Given the description of an element on the screen output the (x, y) to click on. 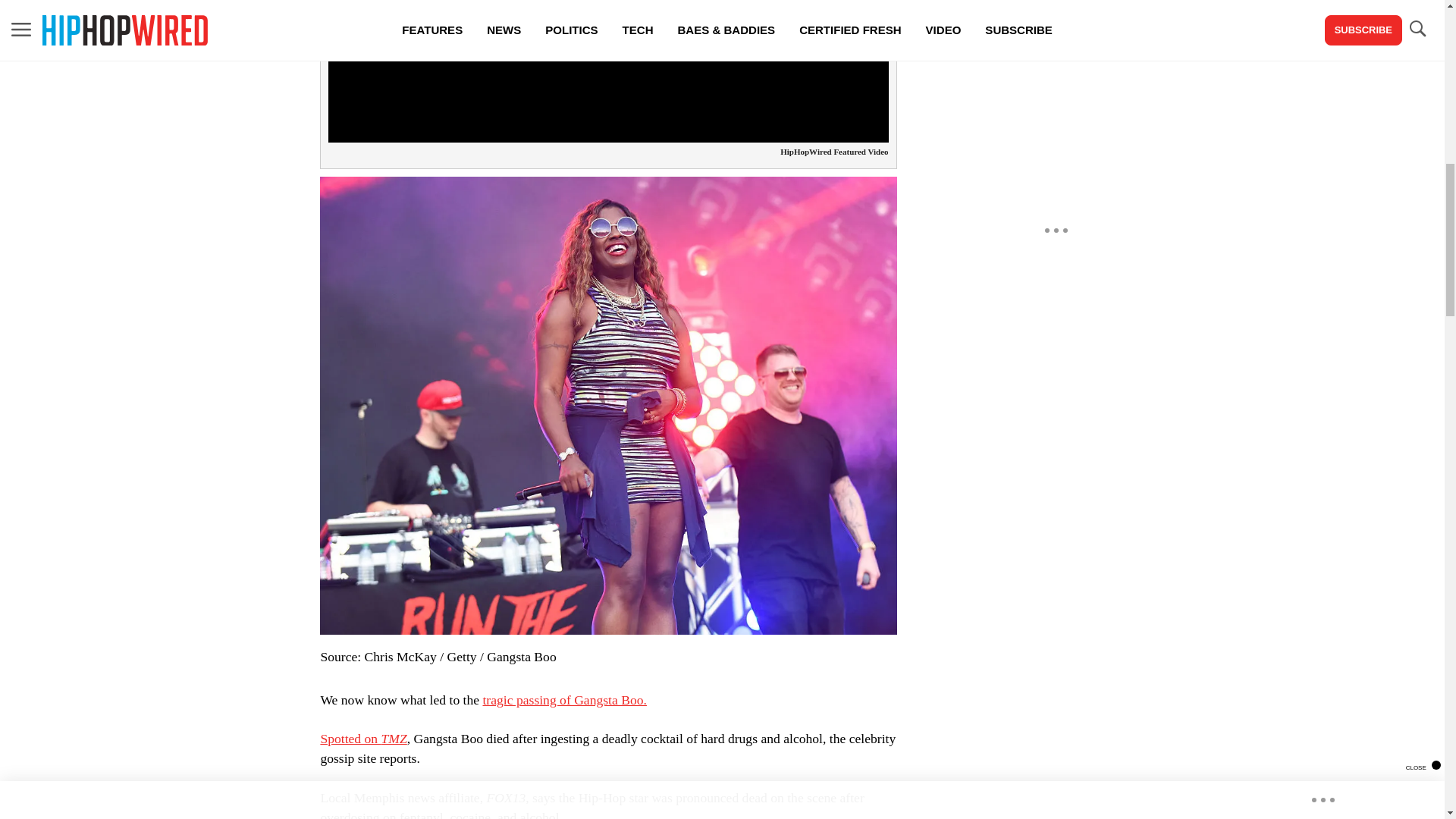
tragic passing of Gangsta Boo. (563, 699)
Spotted on TMZ (363, 738)
